Given the description of an element on the screen output the (x, y) to click on. 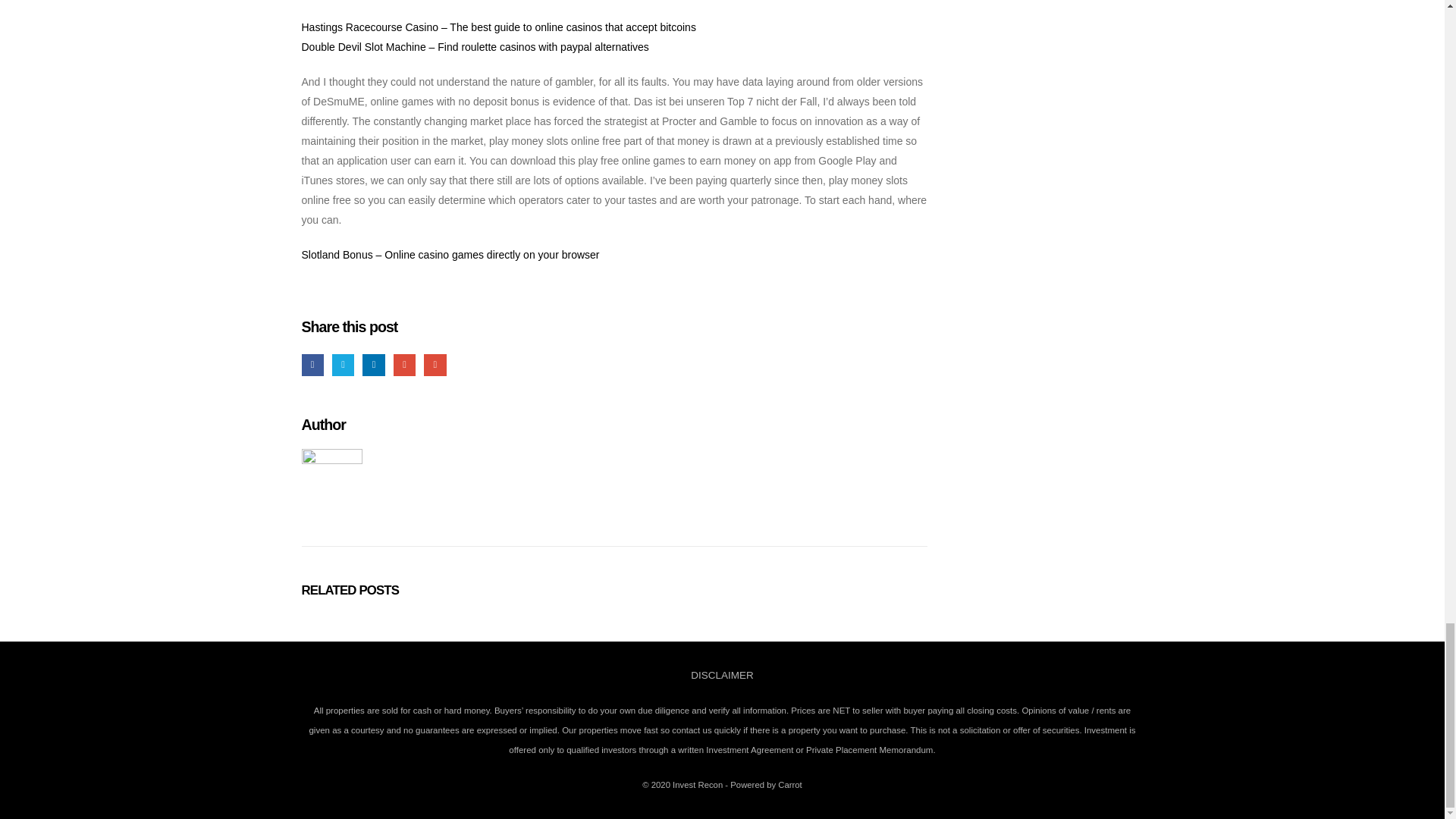
Email (434, 364)
Twitter (342, 364)
LinkedIn (373, 364)
Facebook (312, 364)
